Given the description of an element on the screen output the (x, y) to click on. 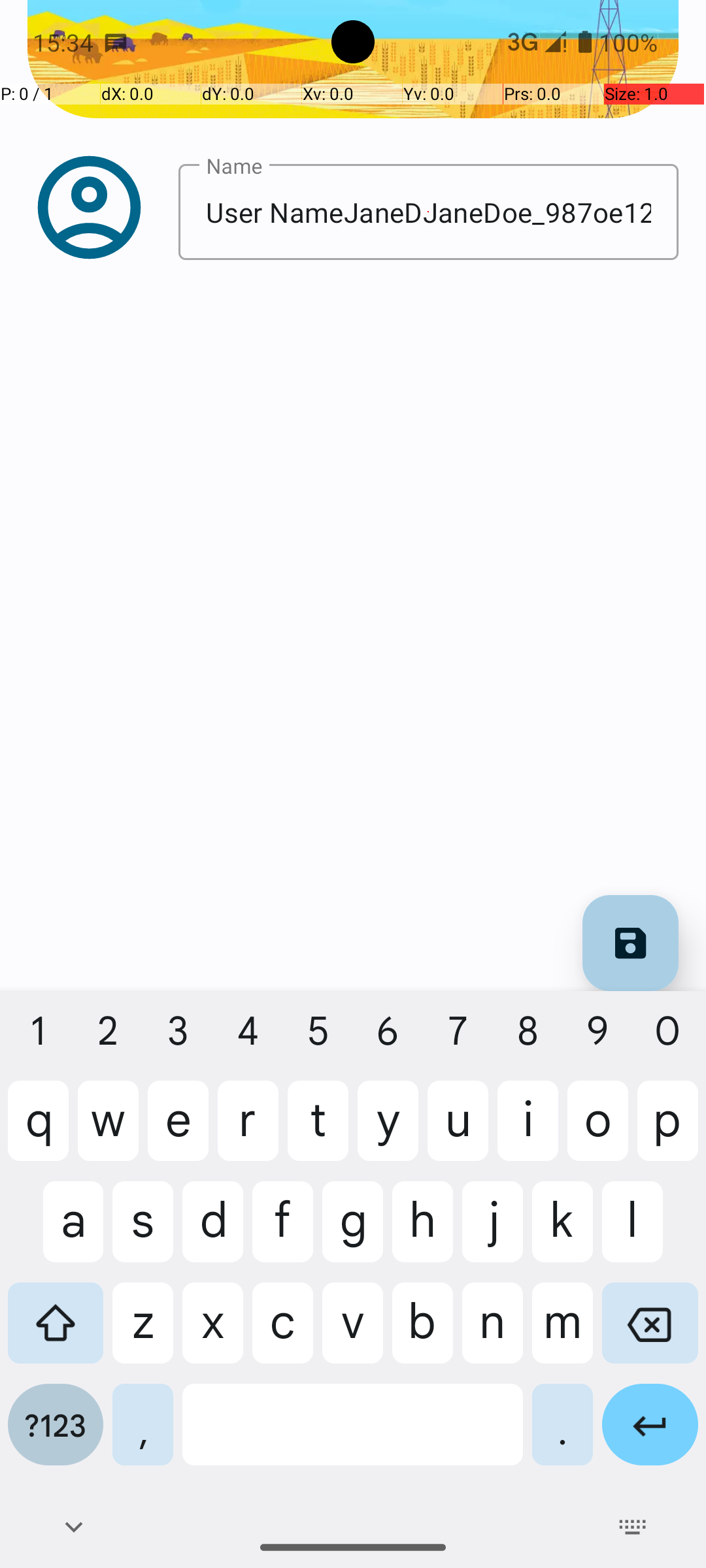
User NameJaneDJaneDoe_987oe123 Element type: android.widget.EditText (428, 211)
